Given the description of an element on the screen output the (x, y) to click on. 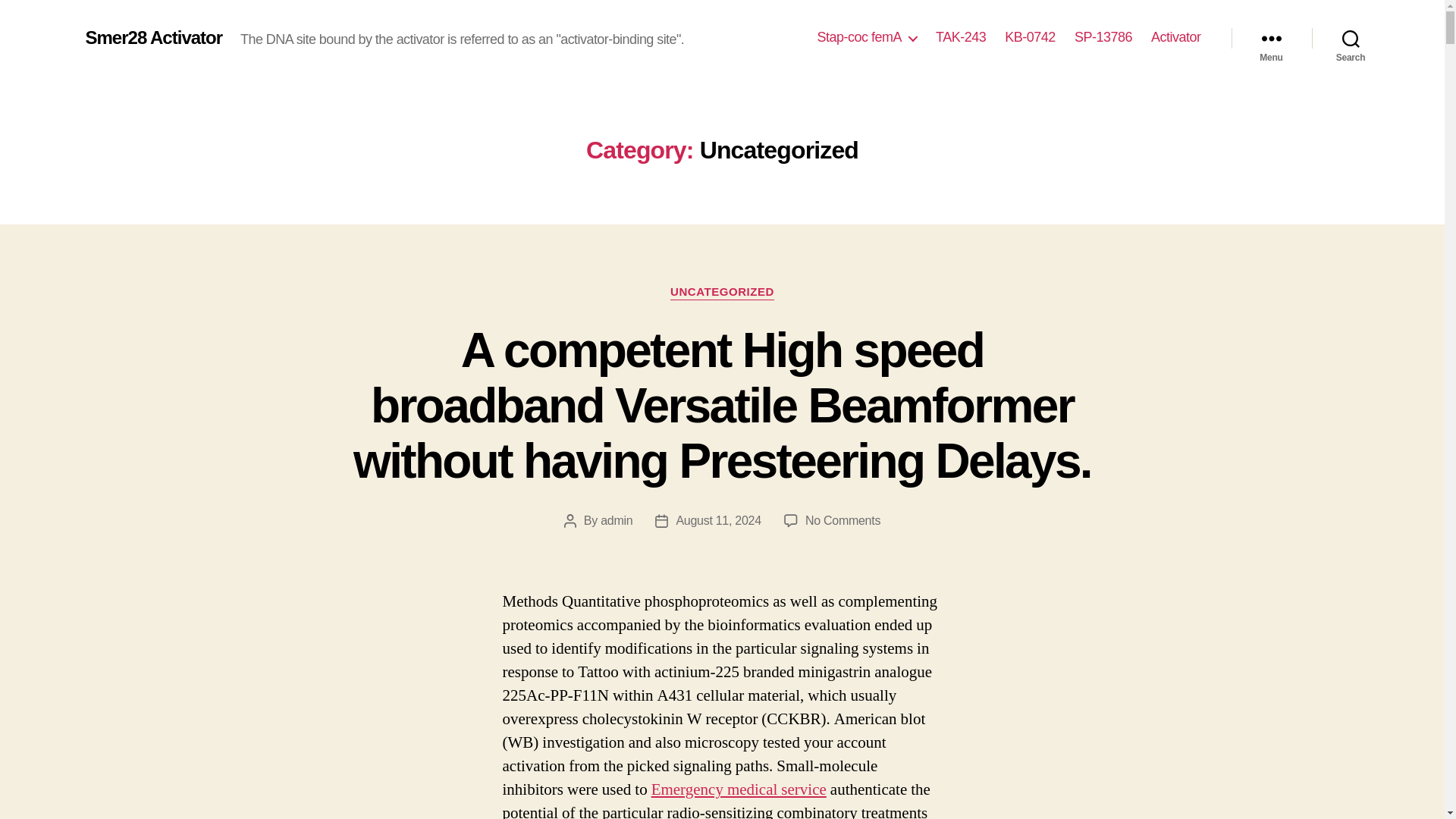
SP-13786 (1103, 37)
Search (1350, 37)
KB-0742 (1029, 37)
Smer28 Activator (153, 37)
Stap-coc femA (866, 37)
Menu (1271, 37)
Activator (1176, 37)
TAK-243 (960, 37)
